Given the description of an element on the screen output the (x, y) to click on. 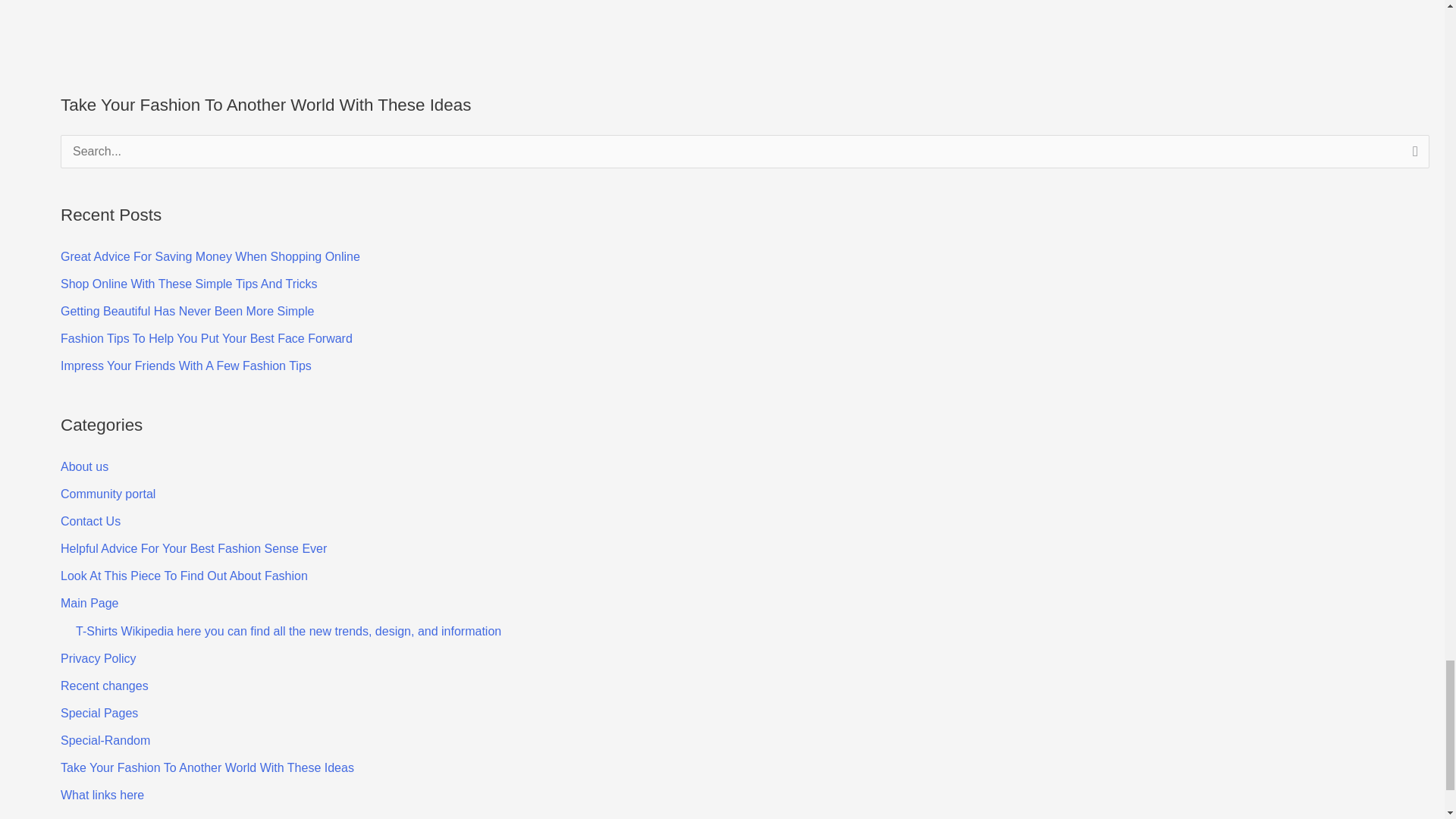
Helpful Advice For Your Best Fashion Sense Ever (193, 548)
About us (84, 466)
Look At This Piece To Find Out About Fashion (184, 575)
What links here (102, 794)
Special Pages (99, 712)
Privacy Policy (98, 658)
Getting Beautiful Has Never Been More Simple (187, 310)
Recent changes (104, 685)
Community portal (108, 493)
